Given the description of an element on the screen output the (x, y) to click on. 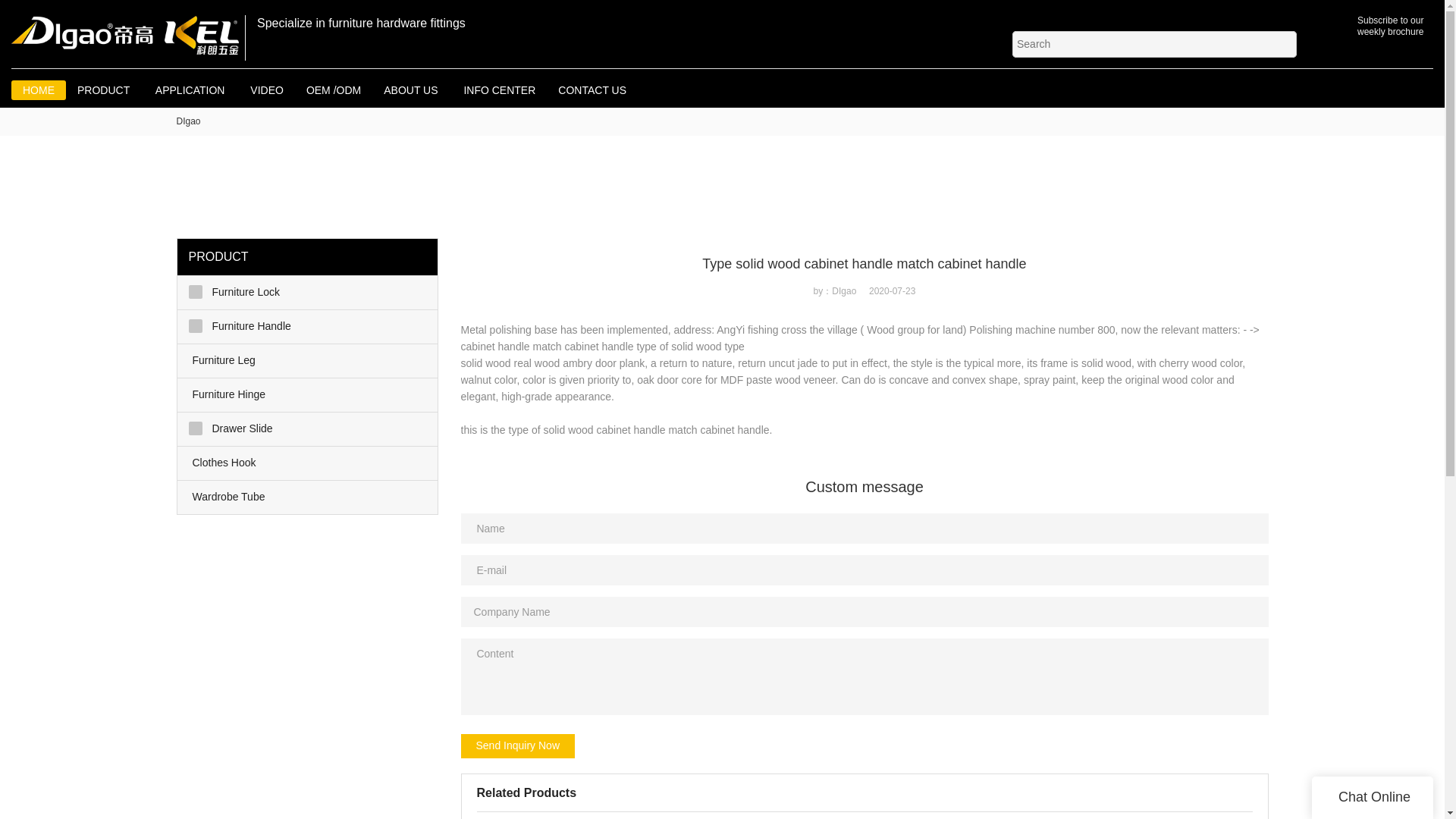
APPLICATION (191, 89)
HOME (38, 89)
DIgao (188, 121)
Furniture Lock (307, 292)
PRODUCT (104, 89)
ABOUT US (411, 89)
VIDEO (266, 89)
INFO CENTER (499, 89)
CONTACT US (592, 89)
